Given the description of an element on the screen output the (x, y) to click on. 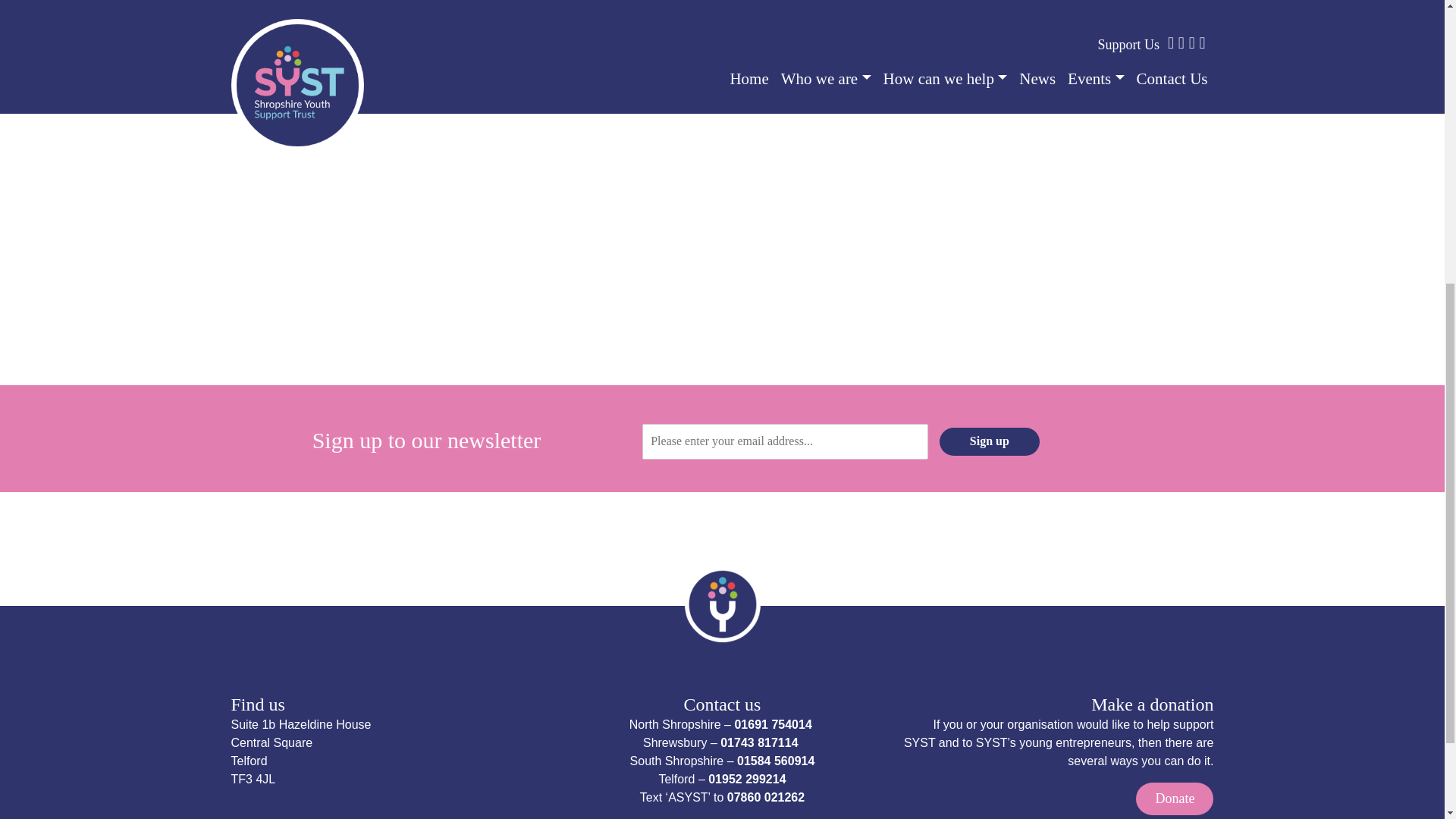
Sign up (989, 441)
mentoring (339, 2)
Sign up (989, 441)
